Given the description of an element on the screen output the (x, y) to click on. 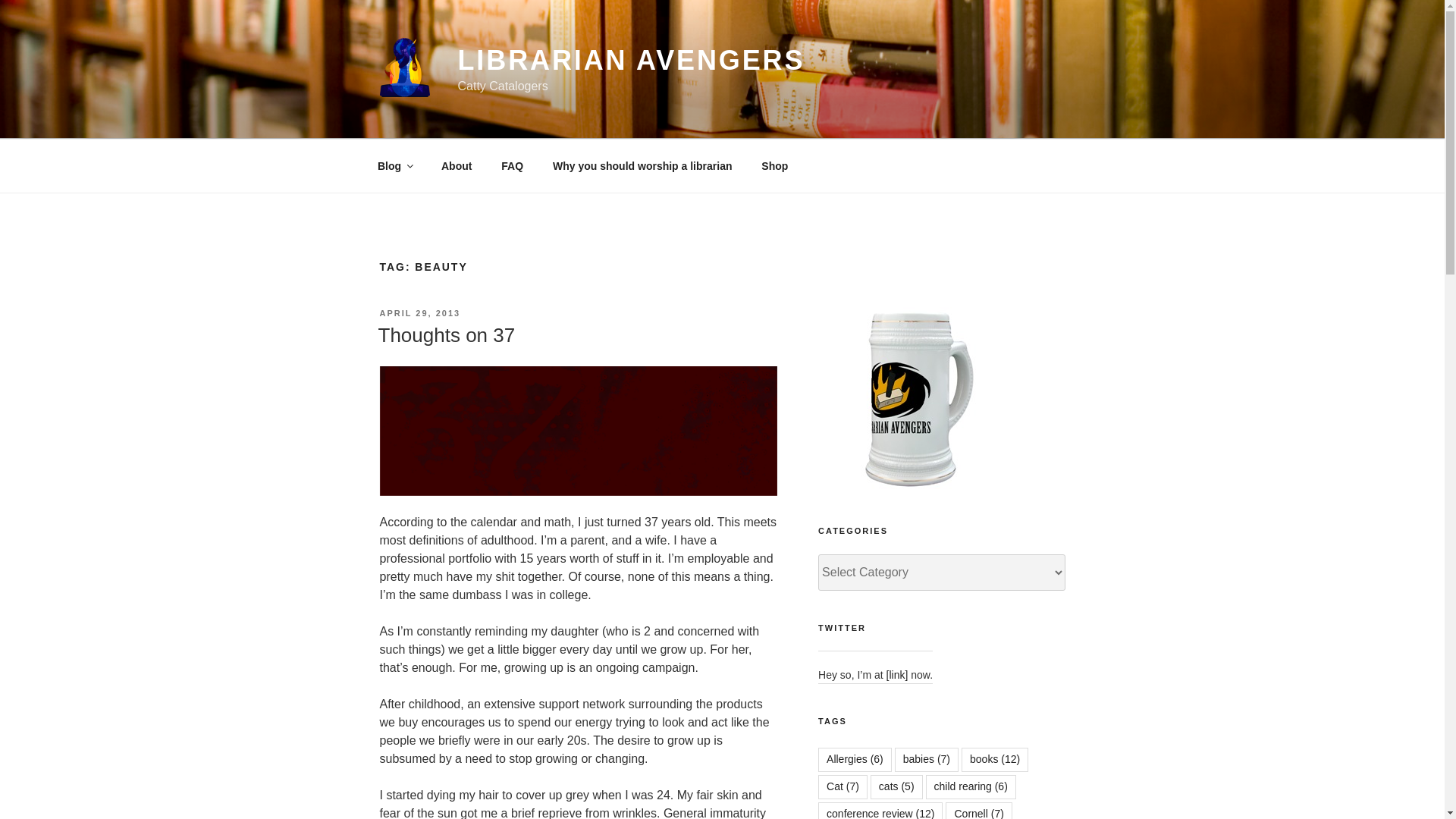
LIBRARIAN AVENGERS (631, 60)
Shop (775, 165)
Thoughts on 37 (446, 334)
APRIL 29, 2013 (419, 312)
Why you should worship a librarian (642, 165)
Blog (394, 165)
About (456, 165)
FAQ (512, 165)
About (456, 165)
